Given the description of an element on the screen output the (x, y) to click on. 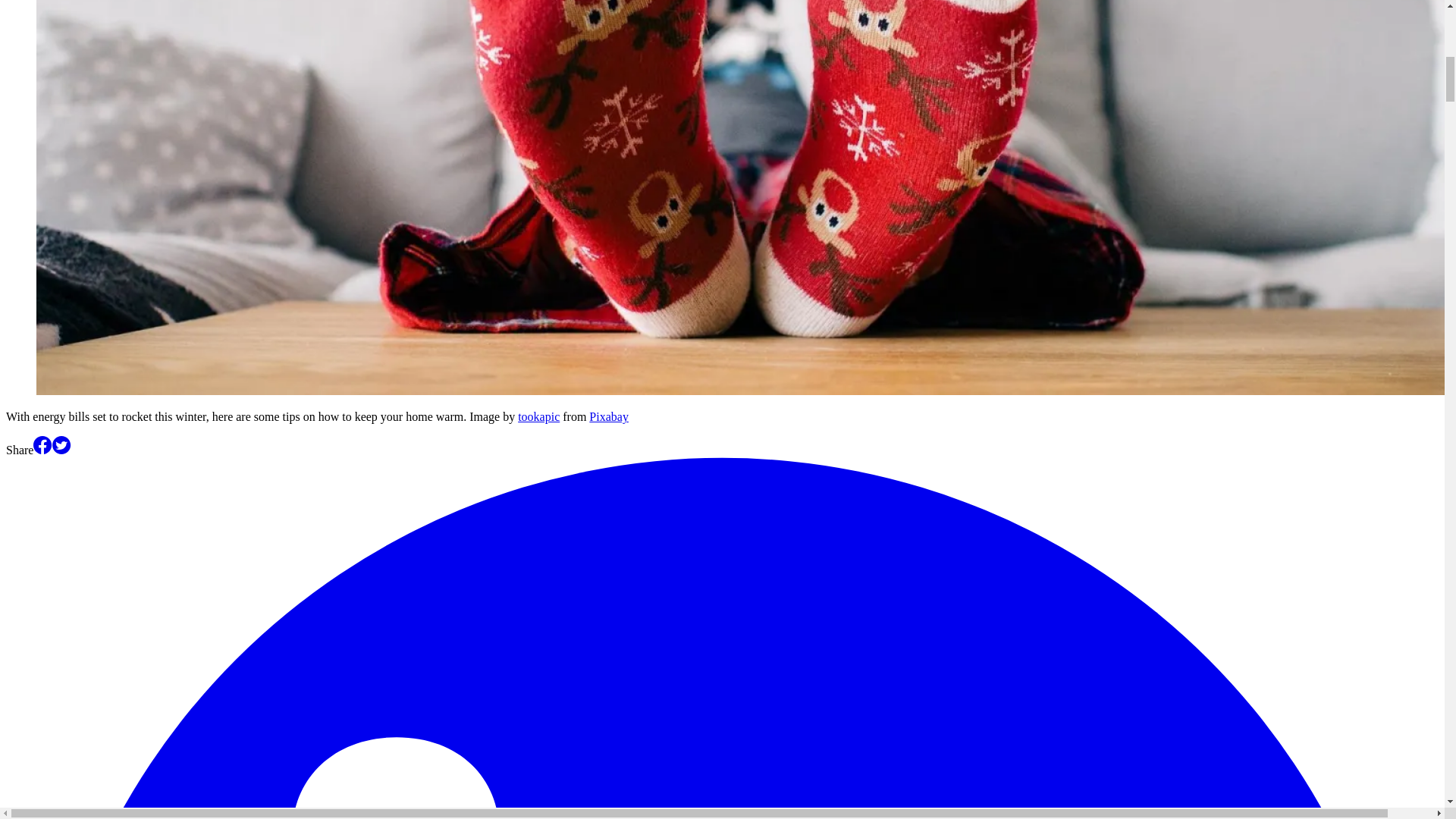
tookapic (538, 416)
Pixabay (608, 416)
